Given the description of an element on the screen output the (x, y) to click on. 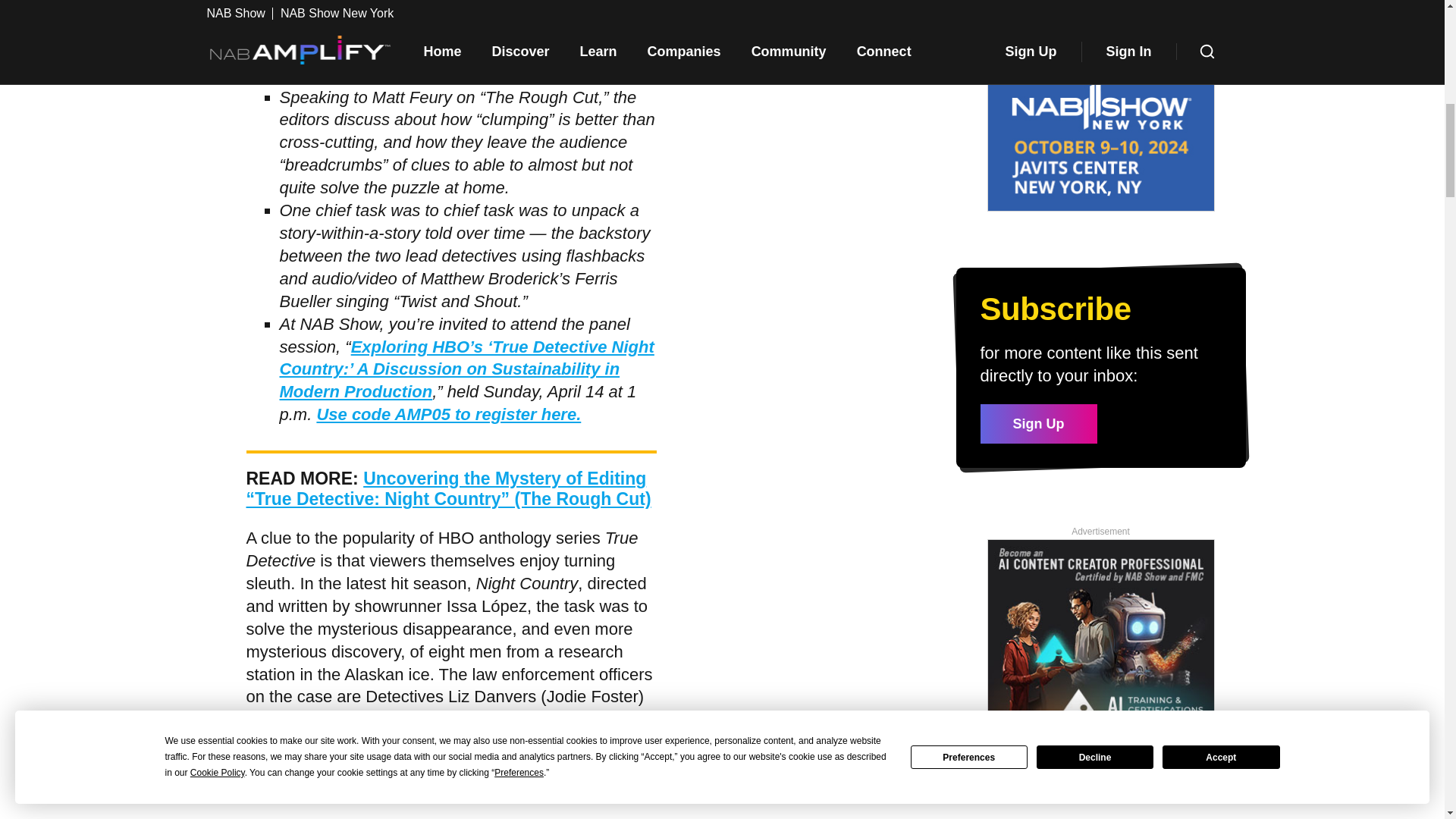
Use code AMP05 to register here. (447, 414)
NAB Show New York - Reconnect. Reevaluate. Rediscover. (1100, 106)
FMC - AI Creative Training (1100, 634)
